Given the description of an element on the screen output the (x, y) to click on. 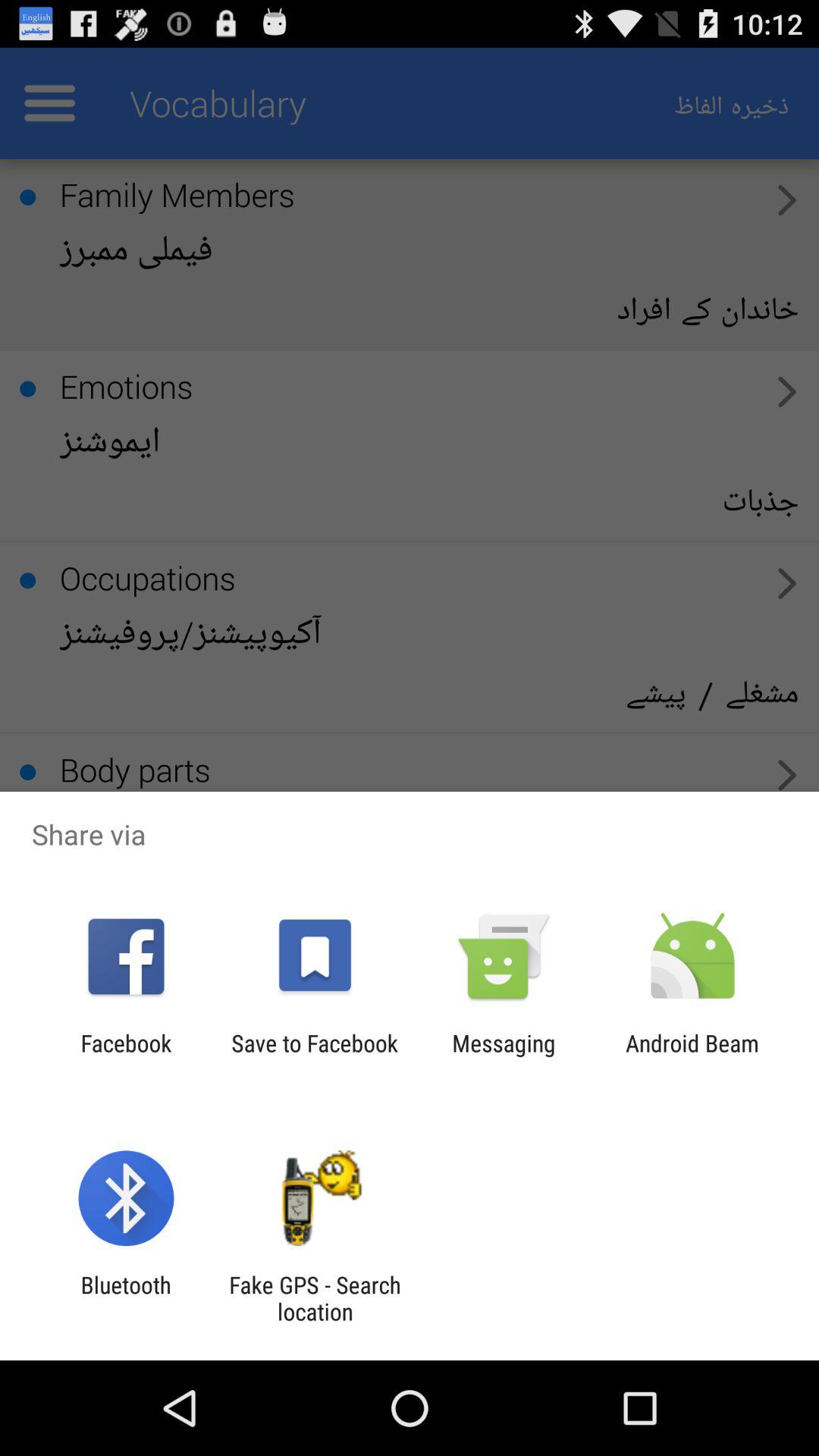
flip until the save to facebook app (314, 1056)
